Given the description of an element on the screen output the (x, y) to click on. 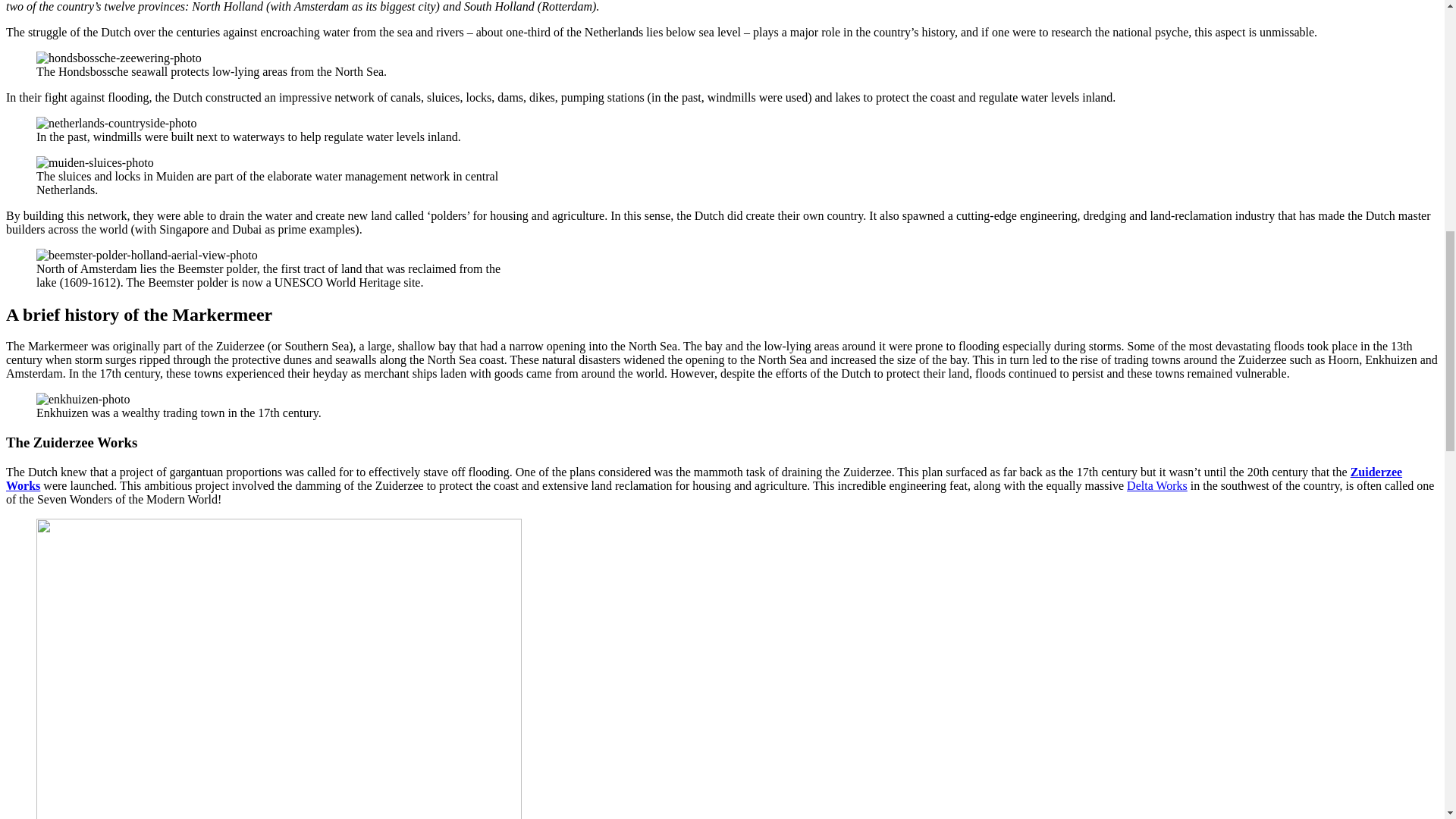
Delta Works (1157, 485)
Zuiderzee Works (703, 479)
